Given the description of an element on the screen output the (x, y) to click on. 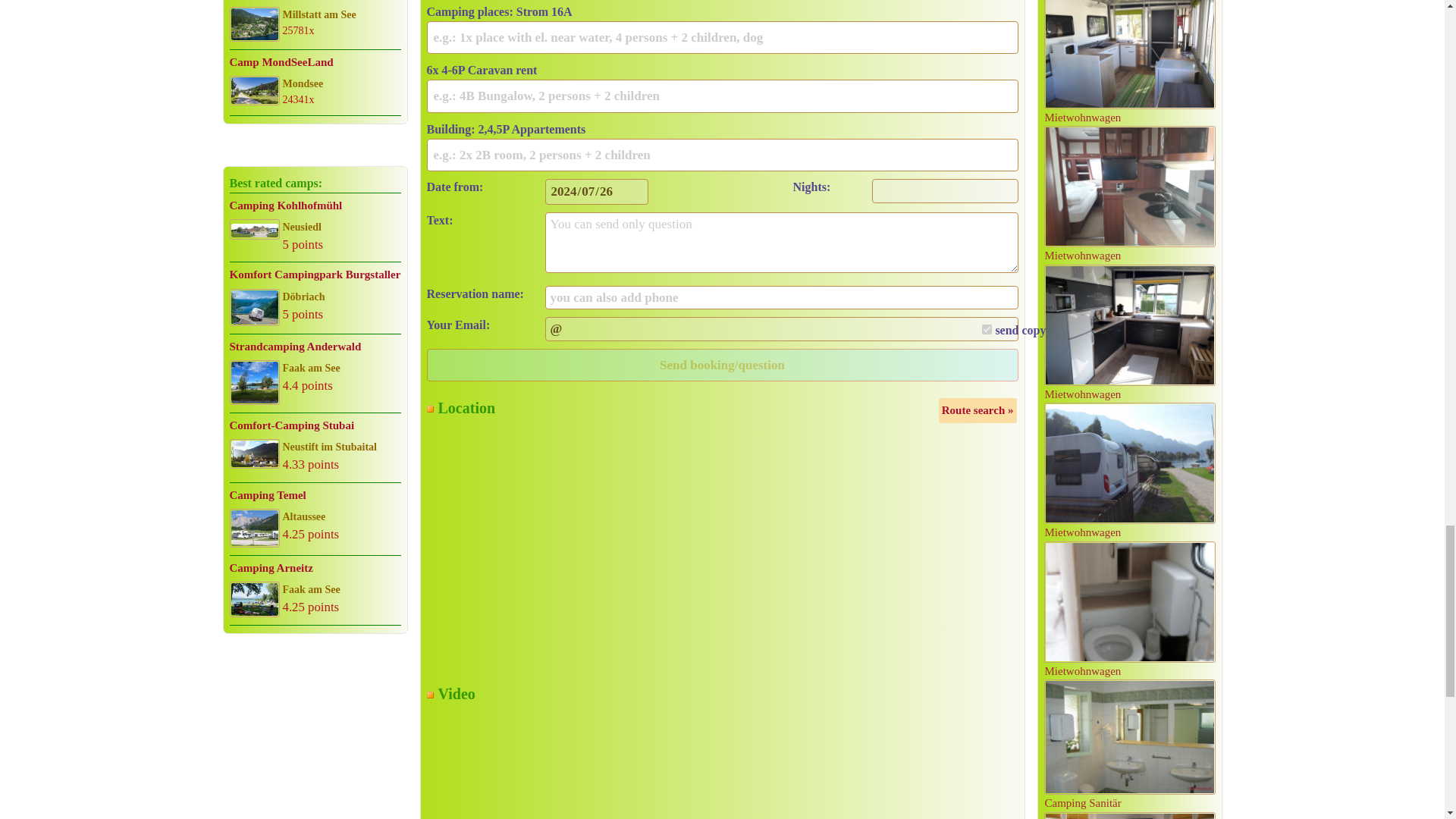
1 (986, 329)
2024-07-26 (595, 191)
